Given the description of an element on the screen output the (x, y) to click on. 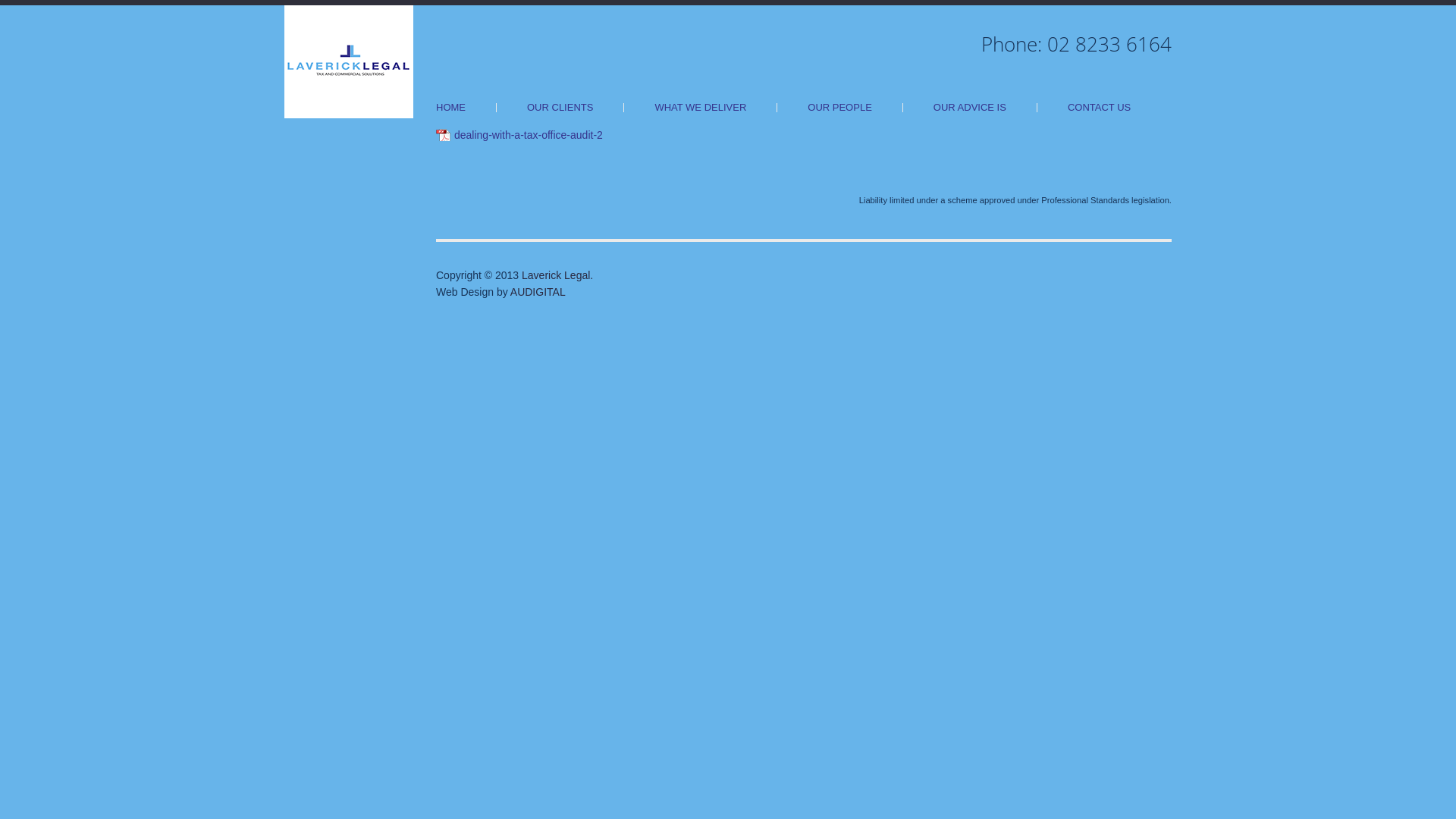
OUR PEOPLE Element type: text (839, 107)
OUR ADVICE IS Element type: text (969, 107)
dealing-with-a-tax-office-audit-2 Element type: text (519, 134)
Laverick Legal Element type: hover (348, 61)
CONTACT US Element type: text (1098, 107)
HOME Element type: text (450, 107)
OUR CLIENTS Element type: text (560, 107)
Laverick Legal. Element type: text (557, 275)
AUDIGITAL Element type: text (537, 291)
